Given the description of an element on the screen output the (x, y) to click on. 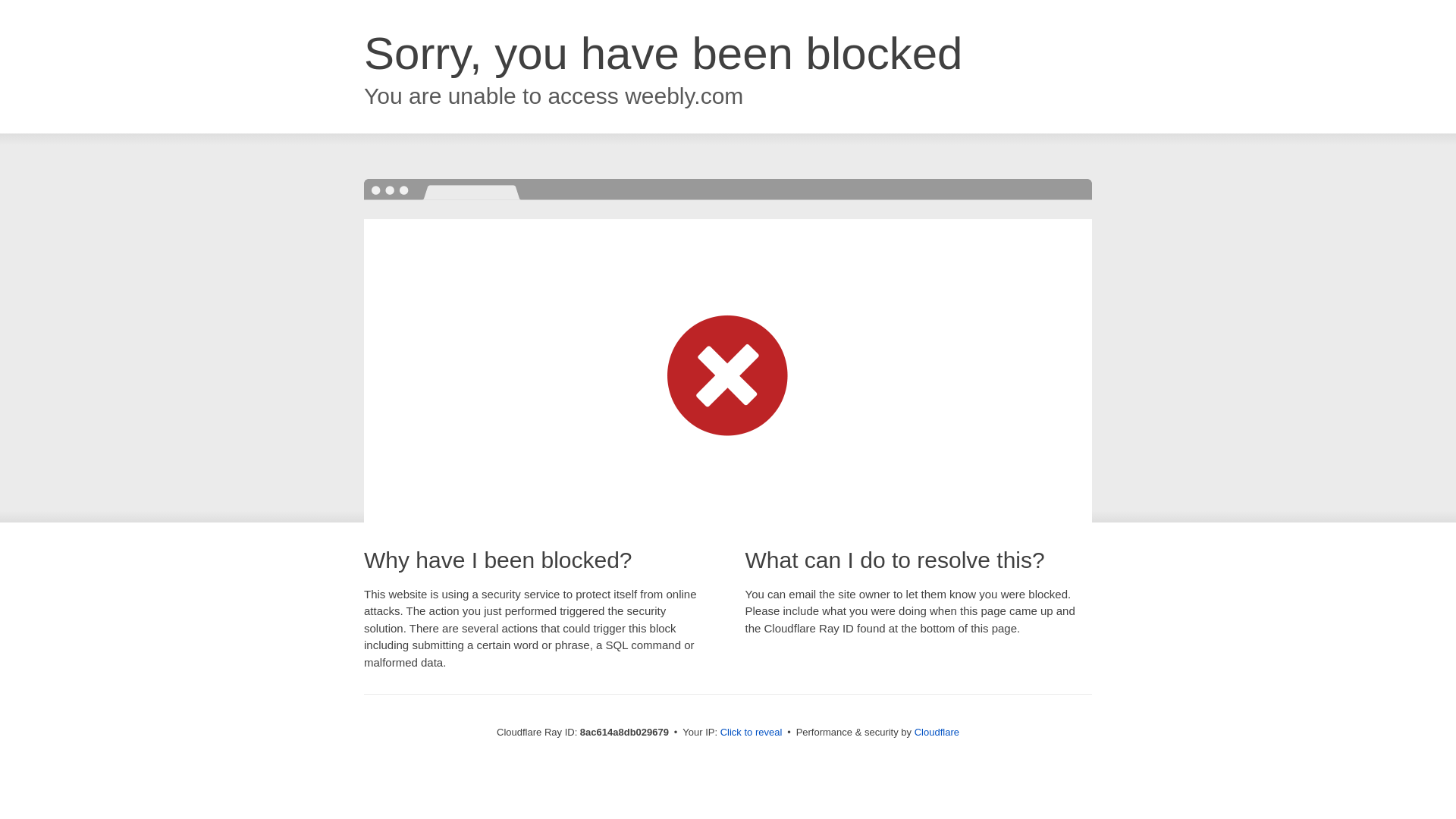
Cloudflare (936, 731)
Click to reveal (751, 732)
